Given the description of an element on the screen output the (x, y) to click on. 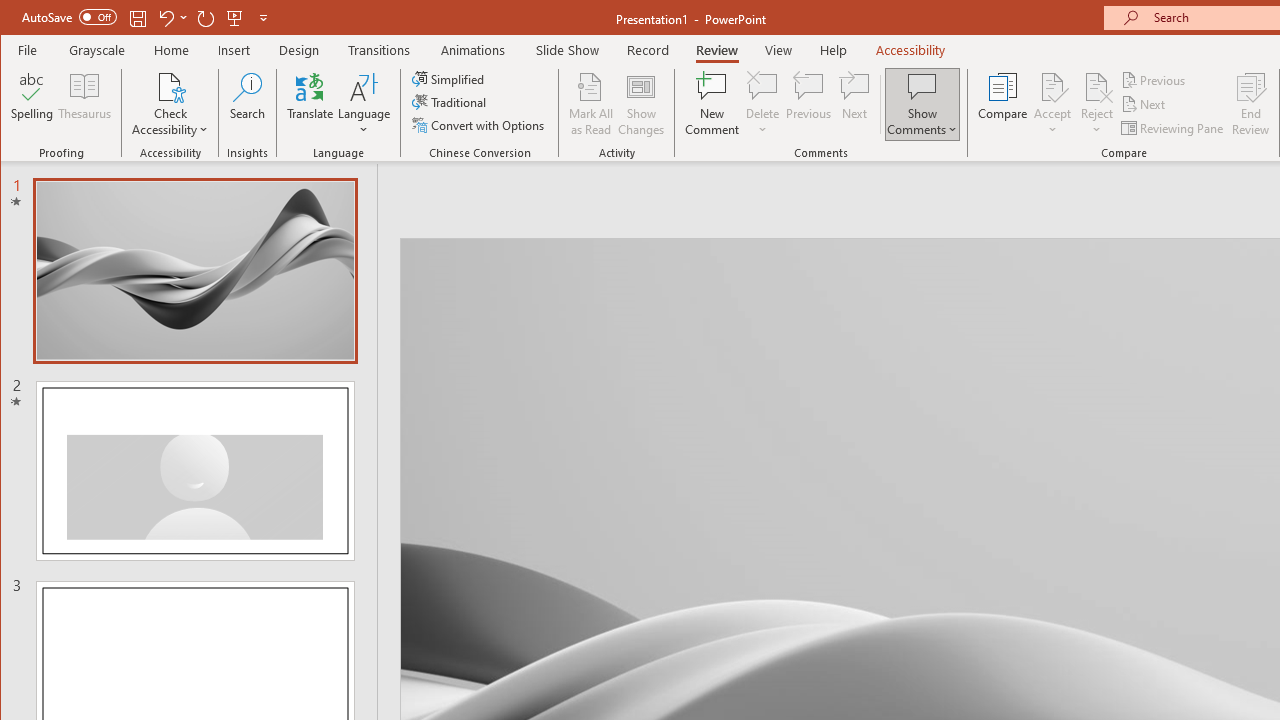
Reviewing Pane (1173, 127)
Next (1144, 103)
Accept (1052, 104)
Traditional (450, 101)
Convert with Options... (479, 124)
Simplified (450, 78)
